Given the description of an element on the screen output the (x, y) to click on. 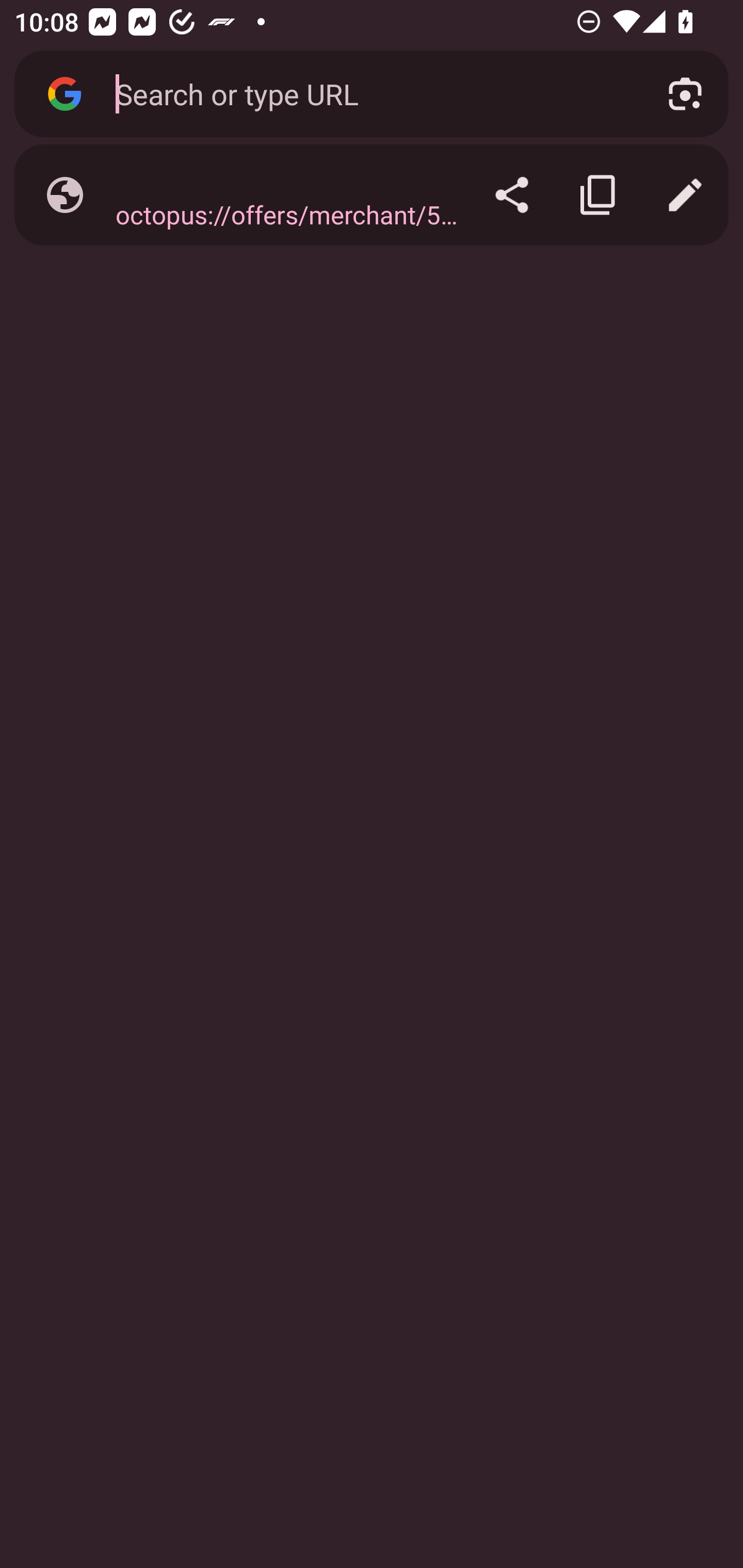
Search with your camera using Google Lens (684, 93)
Search or type URL (367, 92)
Share… (511, 195)
Copy link (598, 195)
Edit (684, 195)
